Given the description of an element on the screen output the (x, y) to click on. 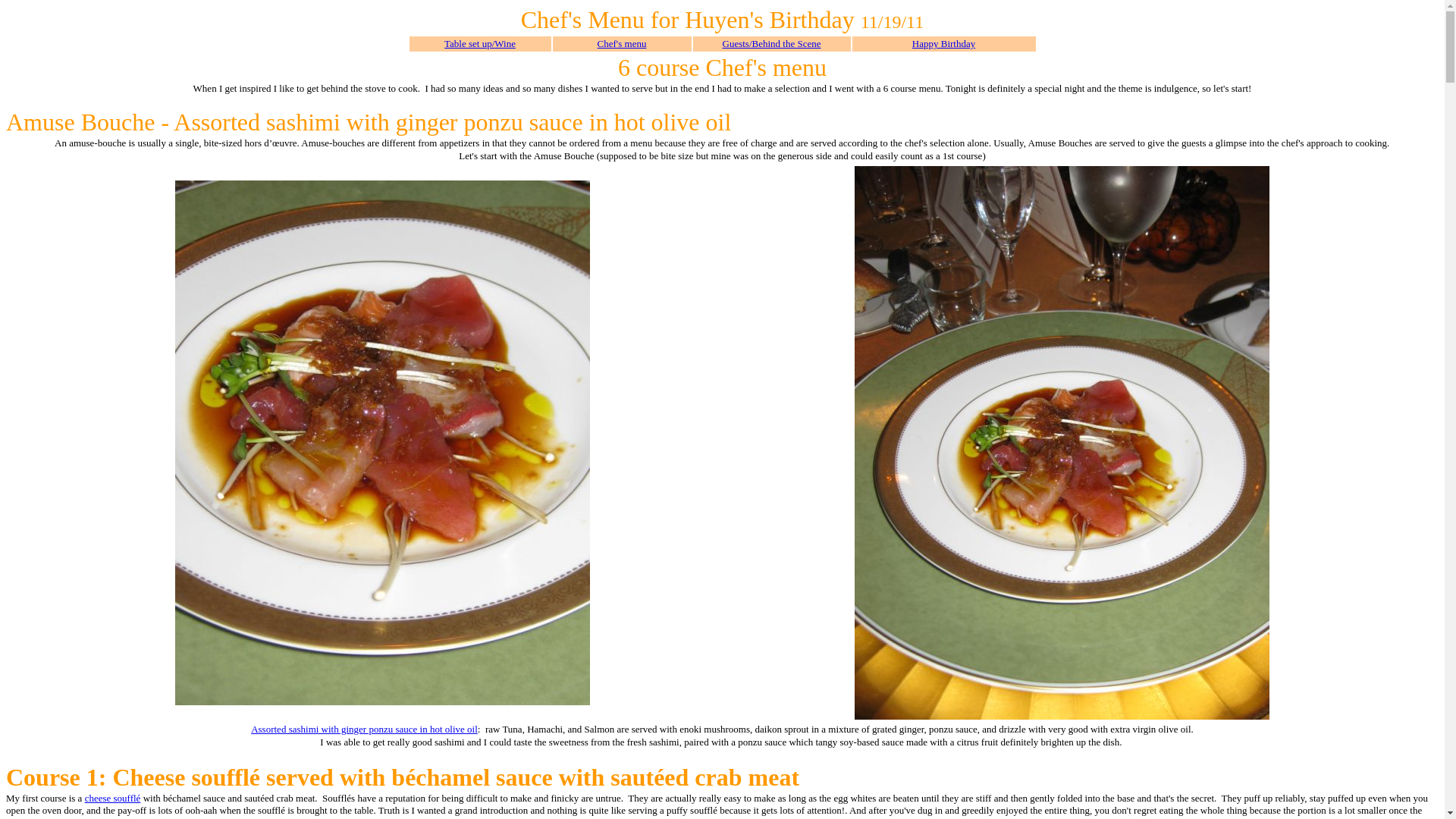
Happy Birthday (943, 43)
Assorted sashimi with ginger ponzu sauce in hot olive oil (363, 728)
Chef's menu (621, 43)
